Given the description of an element on the screen output the (x, y) to click on. 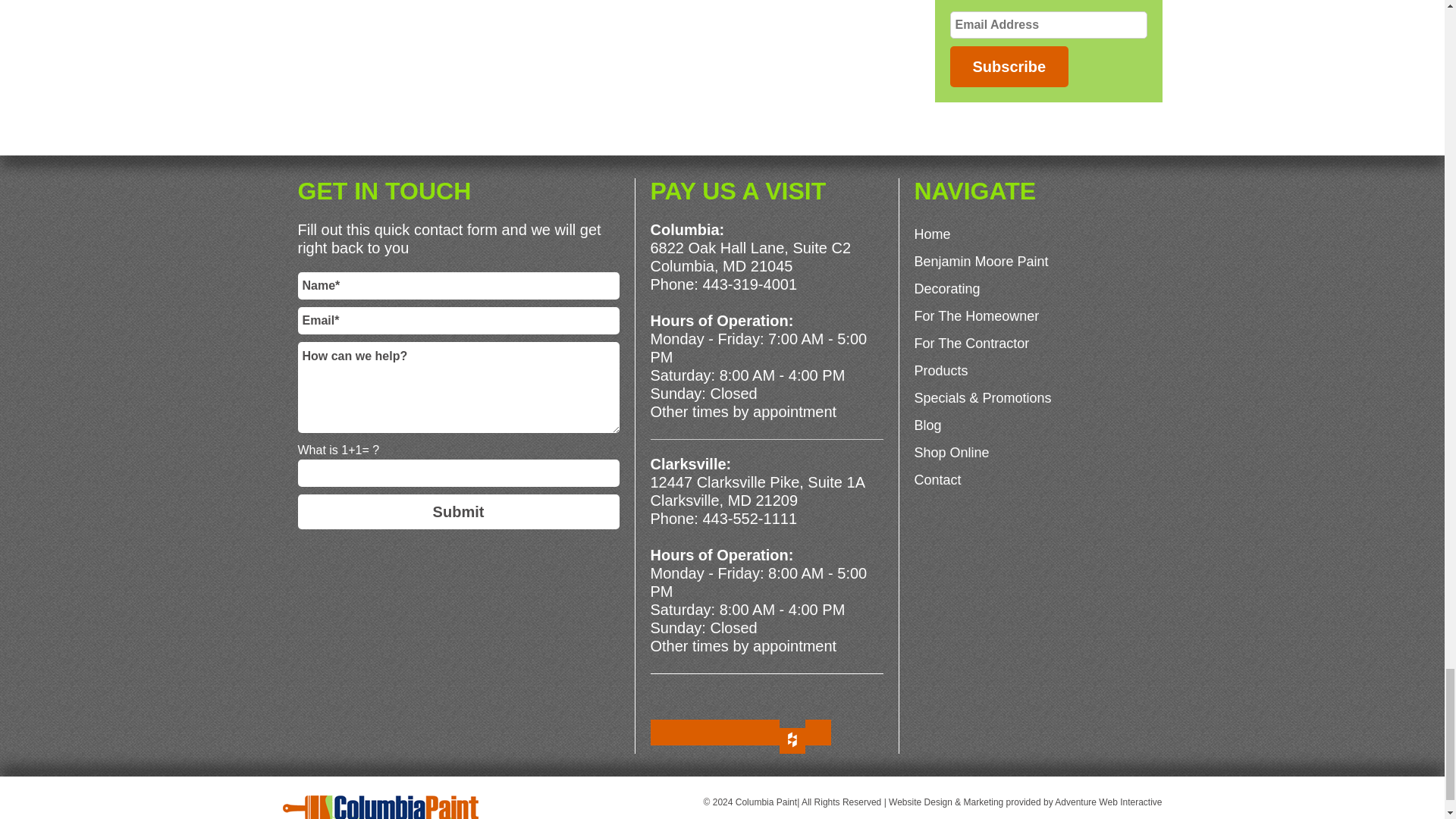
Submit (457, 511)
